Given the description of an element on the screen output the (x, y) to click on. 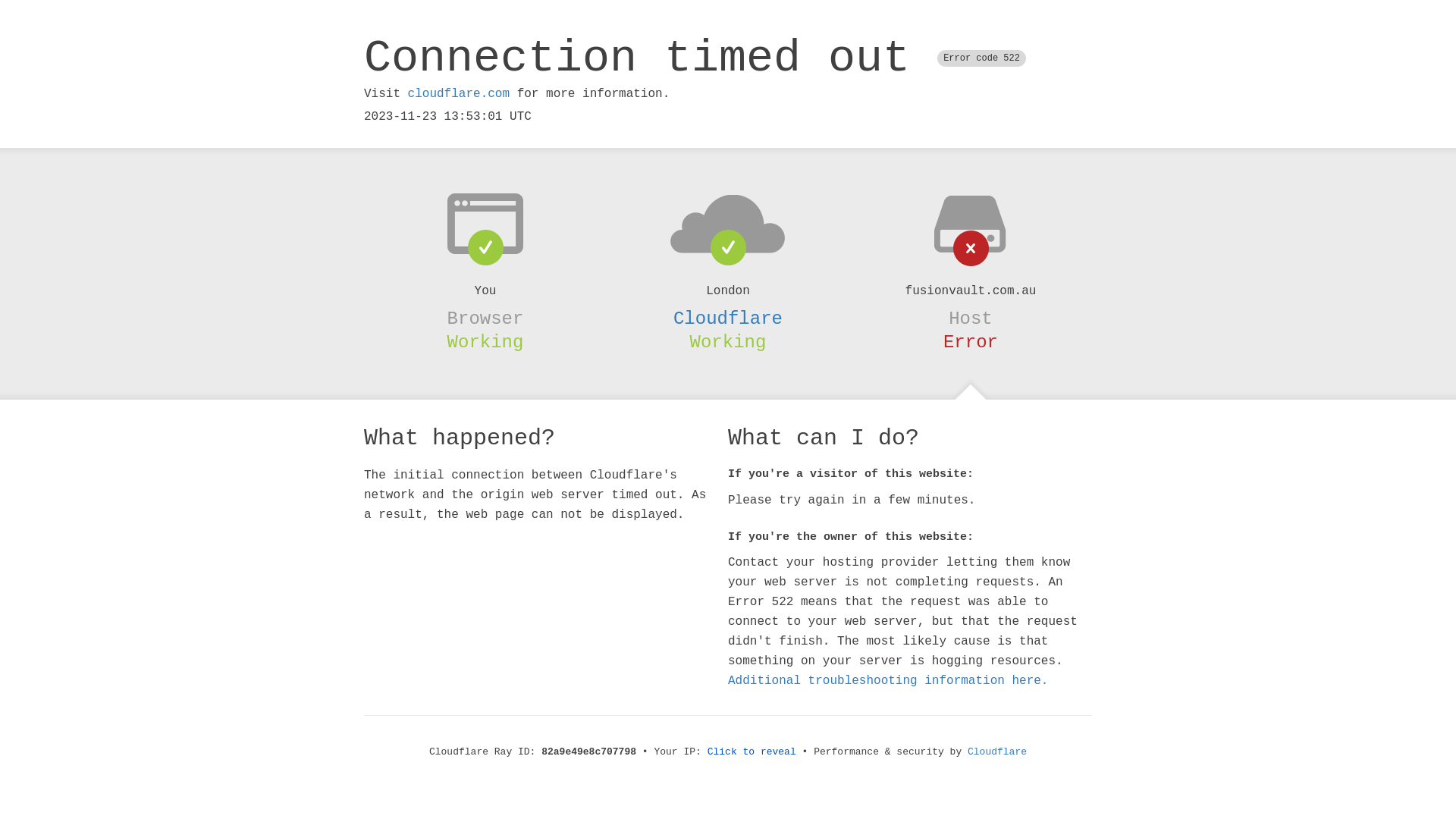
Cloudflare Element type: text (996, 751)
Additional troubleshooting information here. Element type: text (888, 680)
Cloudflare Element type: text (727, 318)
cloudflare.com Element type: text (458, 93)
Click to reveal Element type: text (751, 751)
